Given the description of an element on the screen output the (x, y) to click on. 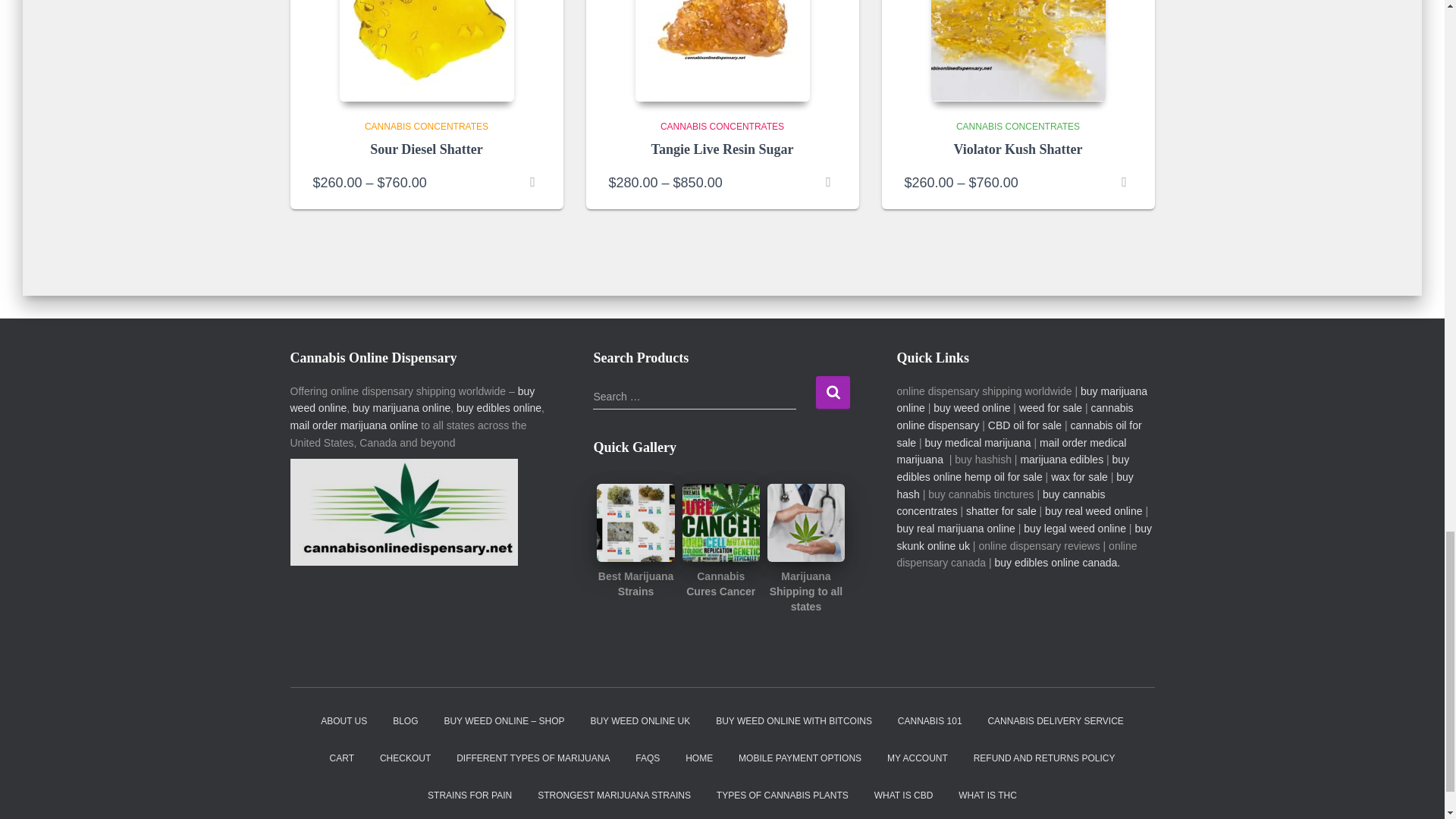
Search (832, 391)
Search (832, 391)
